Given the description of an element on the screen output the (x, y) to click on. 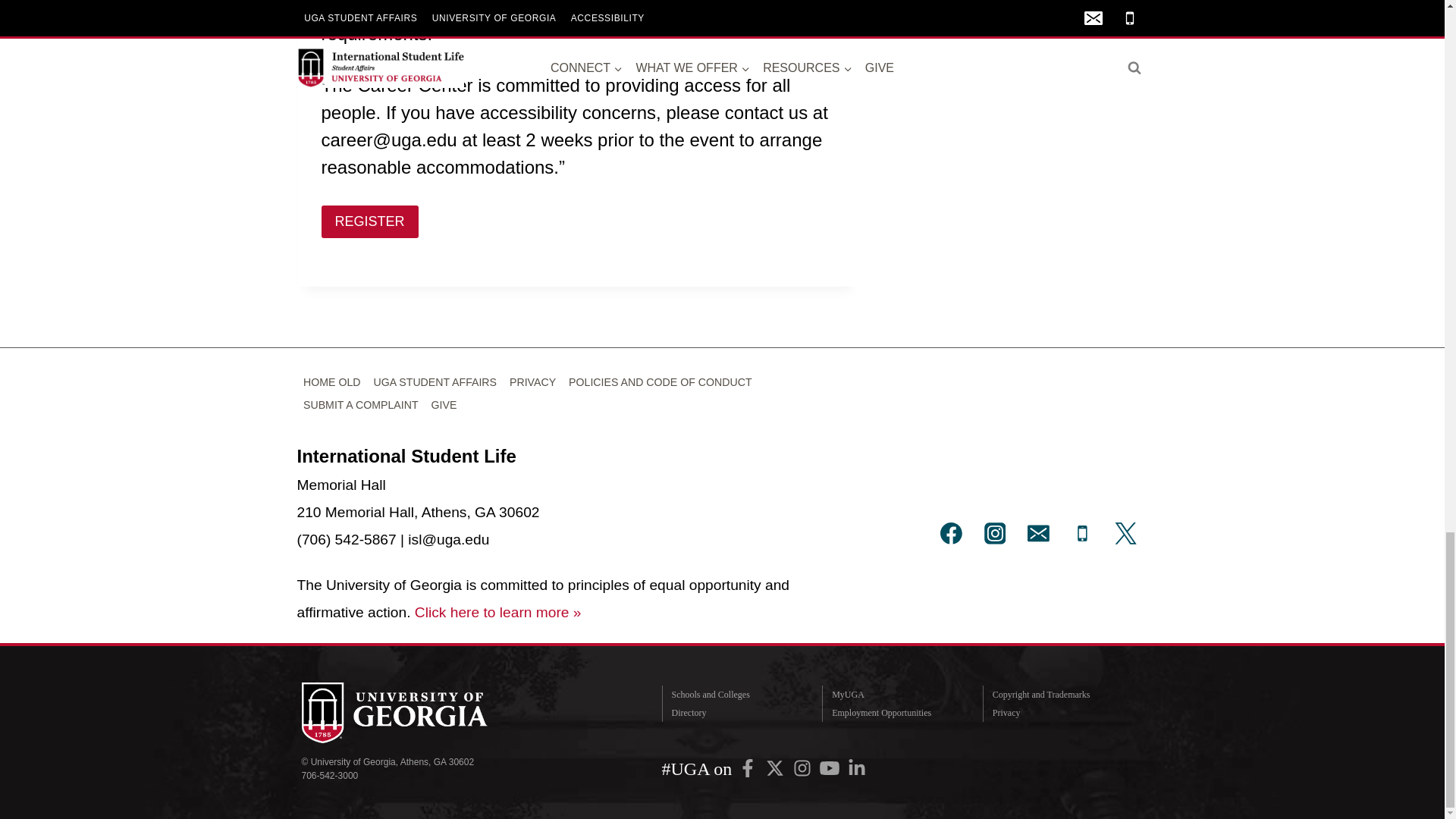
Facebook (747, 768)
YouTube (829, 768)
LinkedIn (856, 768)
Twitter (774, 768)
Instagram (801, 768)
